Given the description of an element on the screen output the (x, y) to click on. 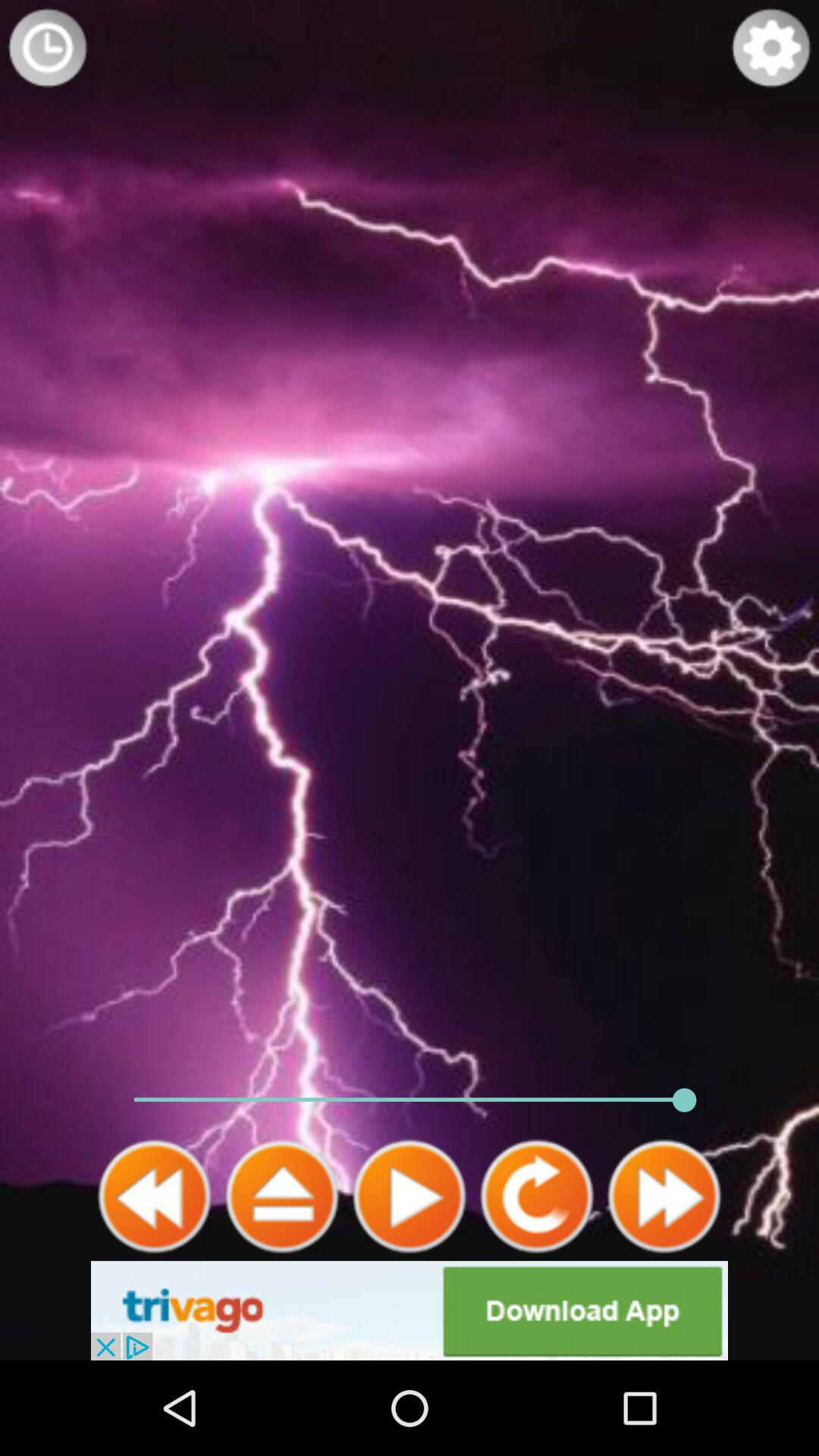
switch play option (409, 1196)
